Given the description of an element on the screen output the (x, y) to click on. 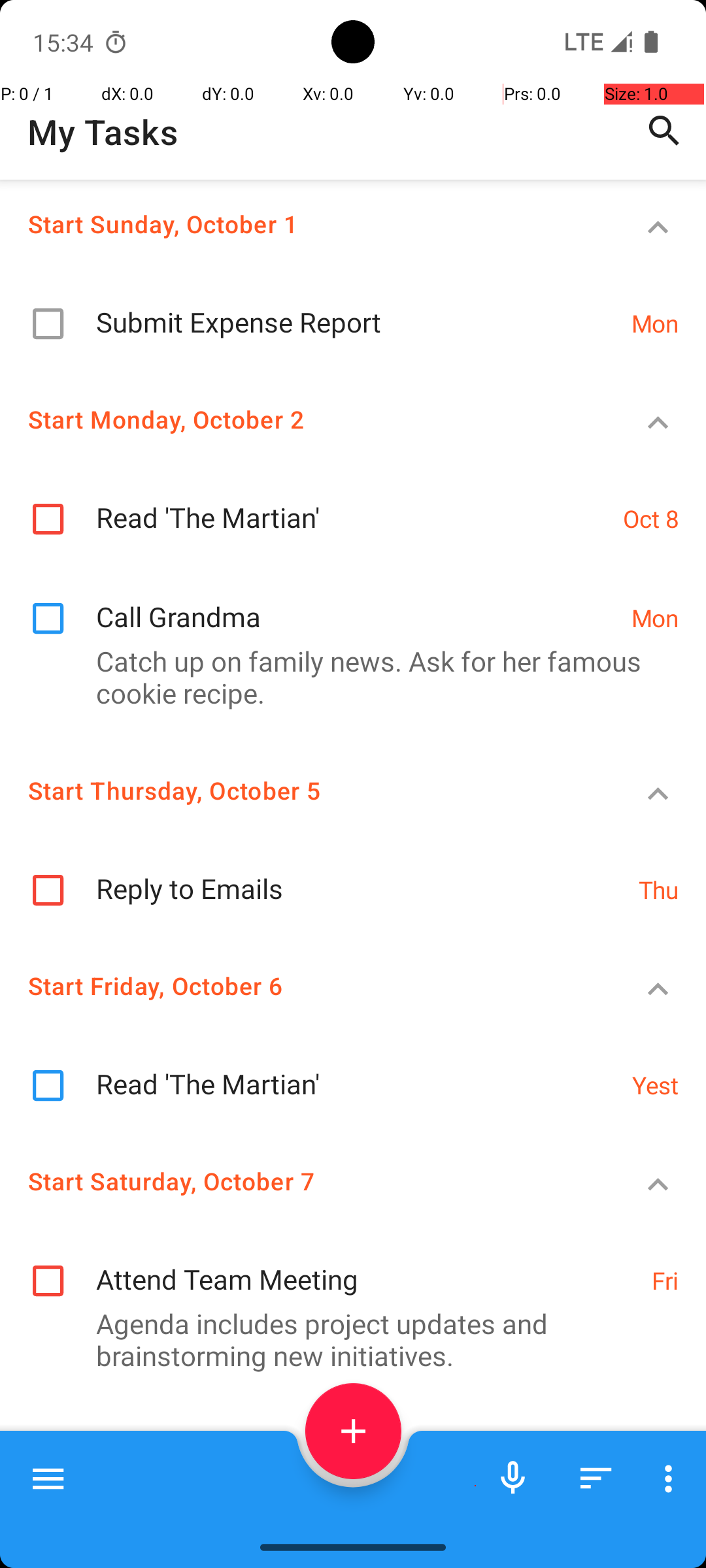
Start Sunday, October 1 Element type: android.widget.TextView (304, 223)
Start Monday, October 2 Element type: android.widget.TextView (304, 419)
Start Thursday, October 5 Element type: android.widget.TextView (304, 790)
Start Friday, October 6 Element type: android.widget.TextView (304, 985)
Start Saturday, October 7 Element type: android.widget.TextView (304, 1180)
Start Sunday, October 8 Element type: android.widget.TextView (304, 1452)
Catch up on family news. Ask for her famous cookie recipe. Element type: android.widget.TextView (346, 676)
